Given the description of an element on the screen output the (x, y) to click on. 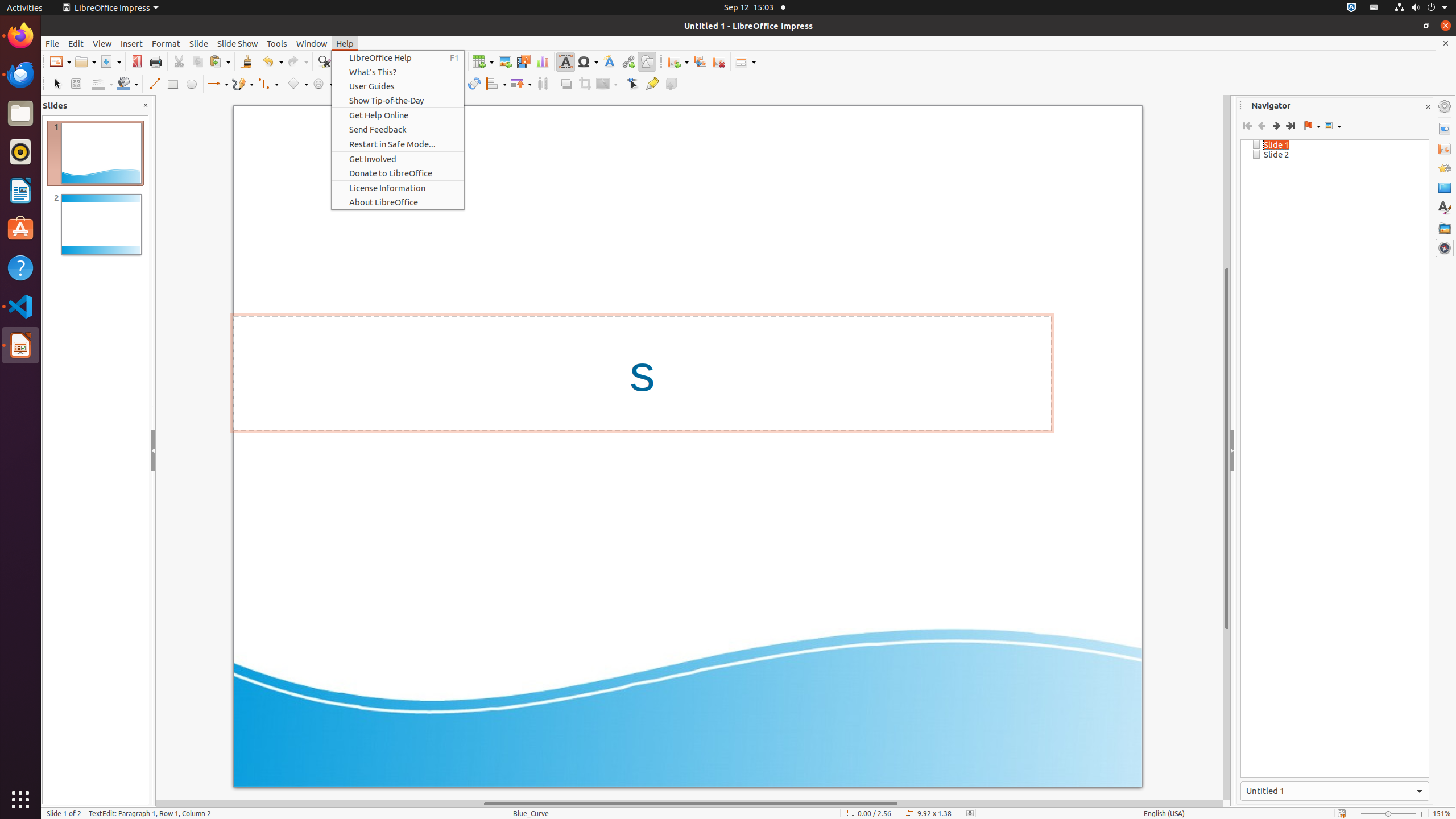
License Information Element type: menu-item (397, 187)
Ellipse Element type: push-button (191, 83)
Slide Element type: menu (198, 43)
Gallery Element type: radio-button (1444, 227)
Navigator Element type: radio-button (1444, 247)
